Given the description of an element on the screen output the (x, y) to click on. 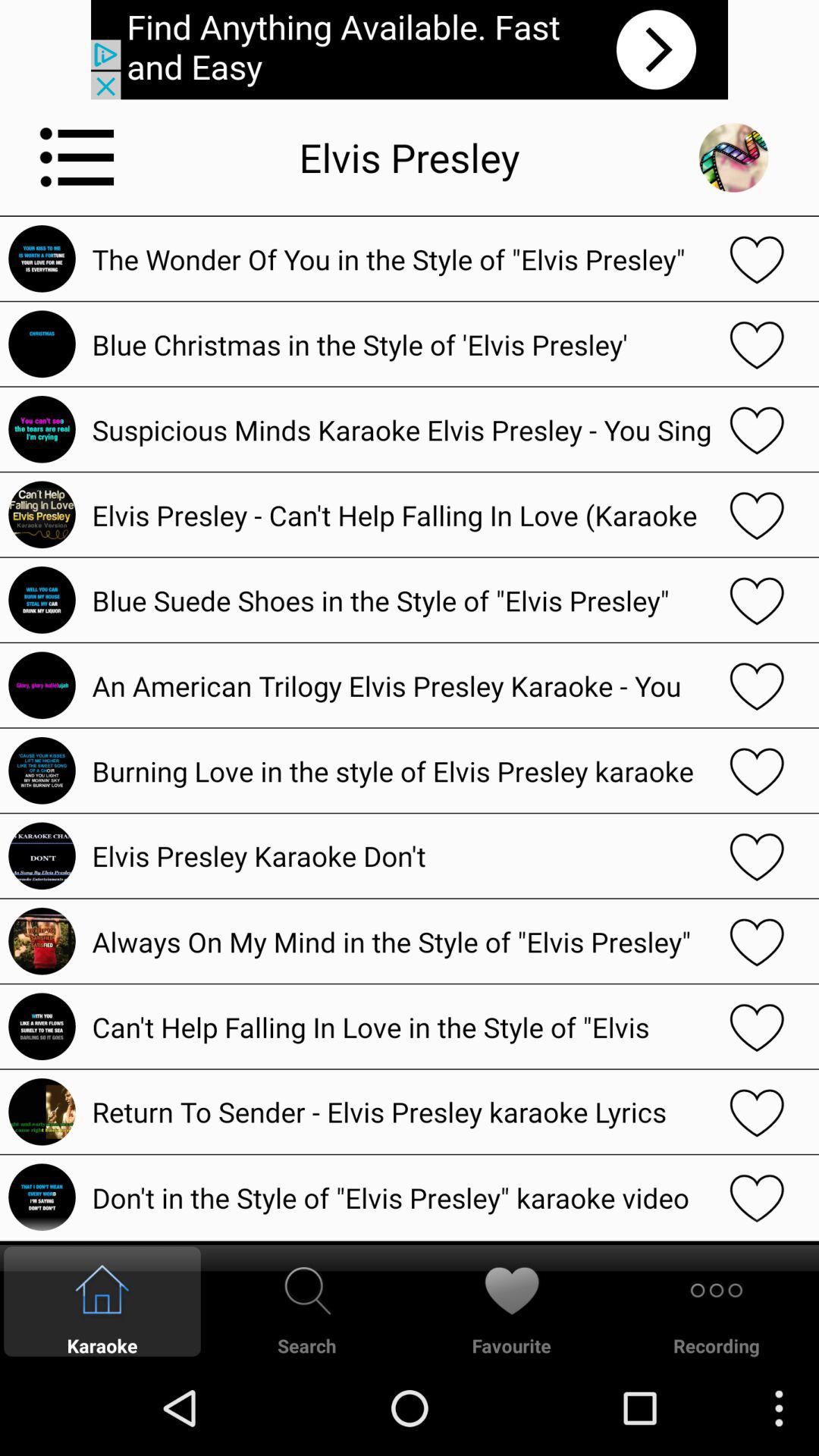
select category (77, 157)
